Given the description of an element on the screen output the (x, y) to click on. 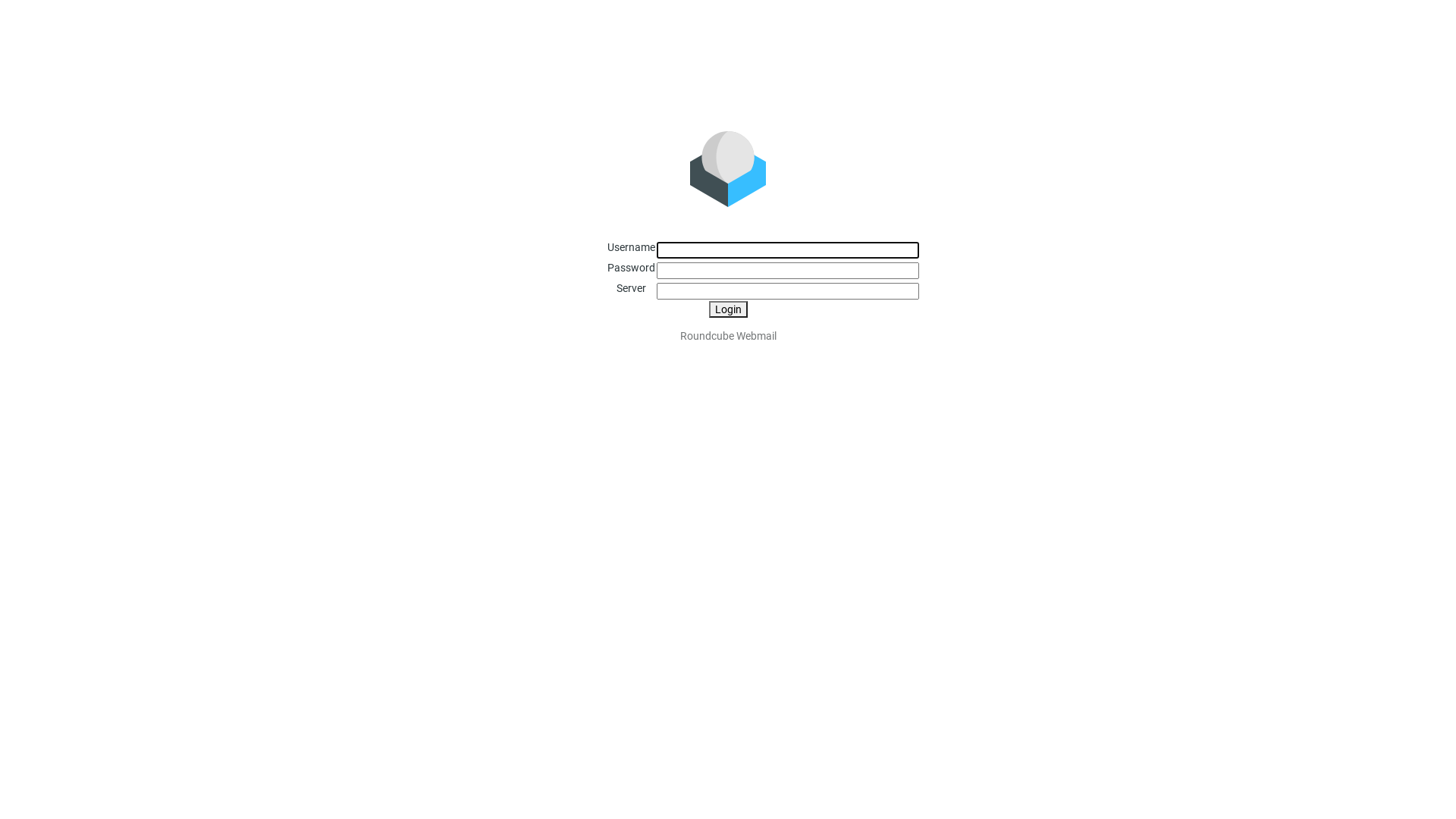
Login Element type: text (727, 309)
